Given the description of an element on the screen output the (x, y) to click on. 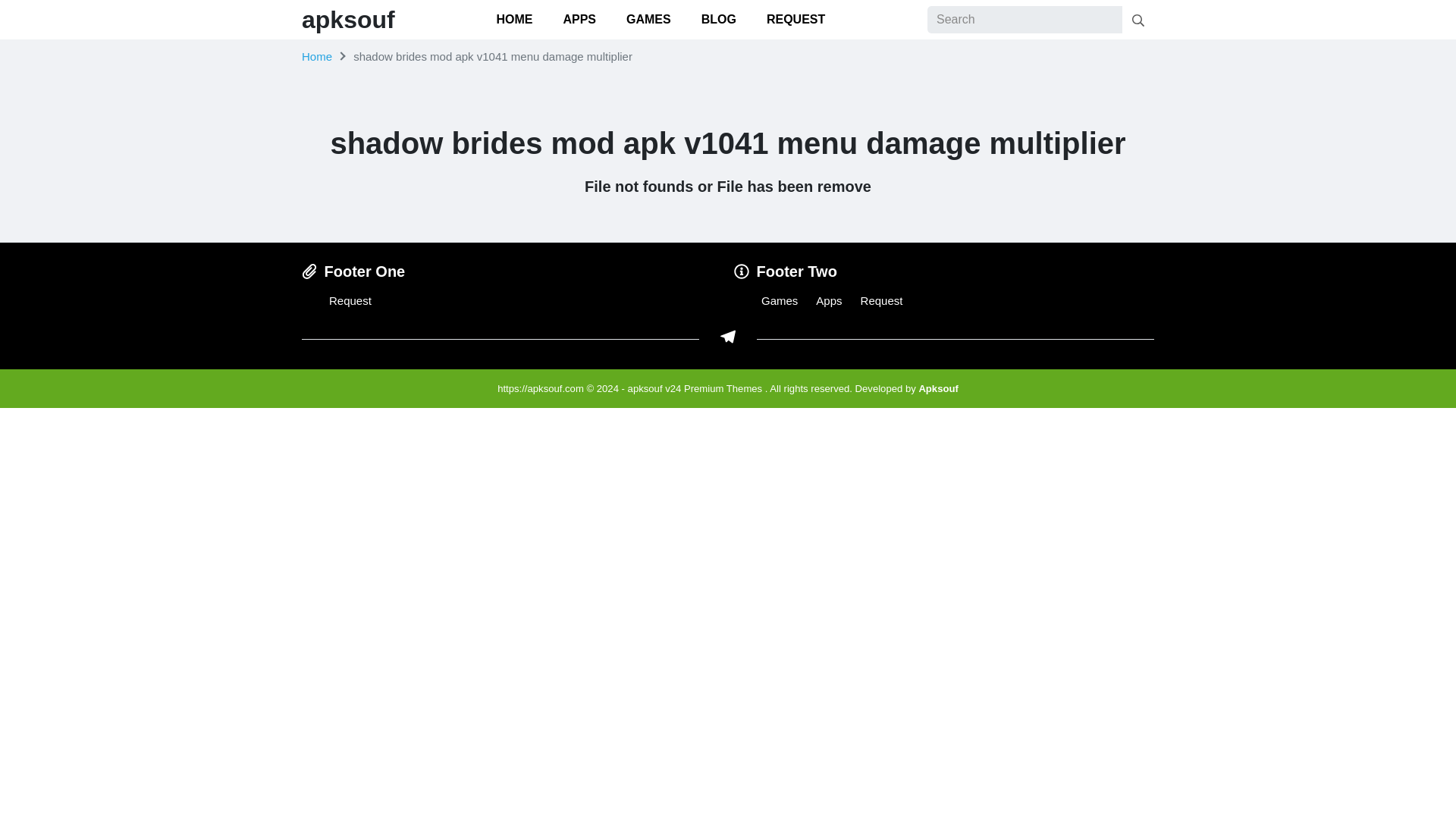
HOME (513, 19)
Apksouf (938, 388)
BLOG (718, 19)
Request (881, 300)
Games (779, 300)
Apps (828, 300)
Home (316, 56)
Home (316, 56)
apksouf Blog (938, 388)
Request (350, 300)
